Given the description of an element on the screen output the (x, y) to click on. 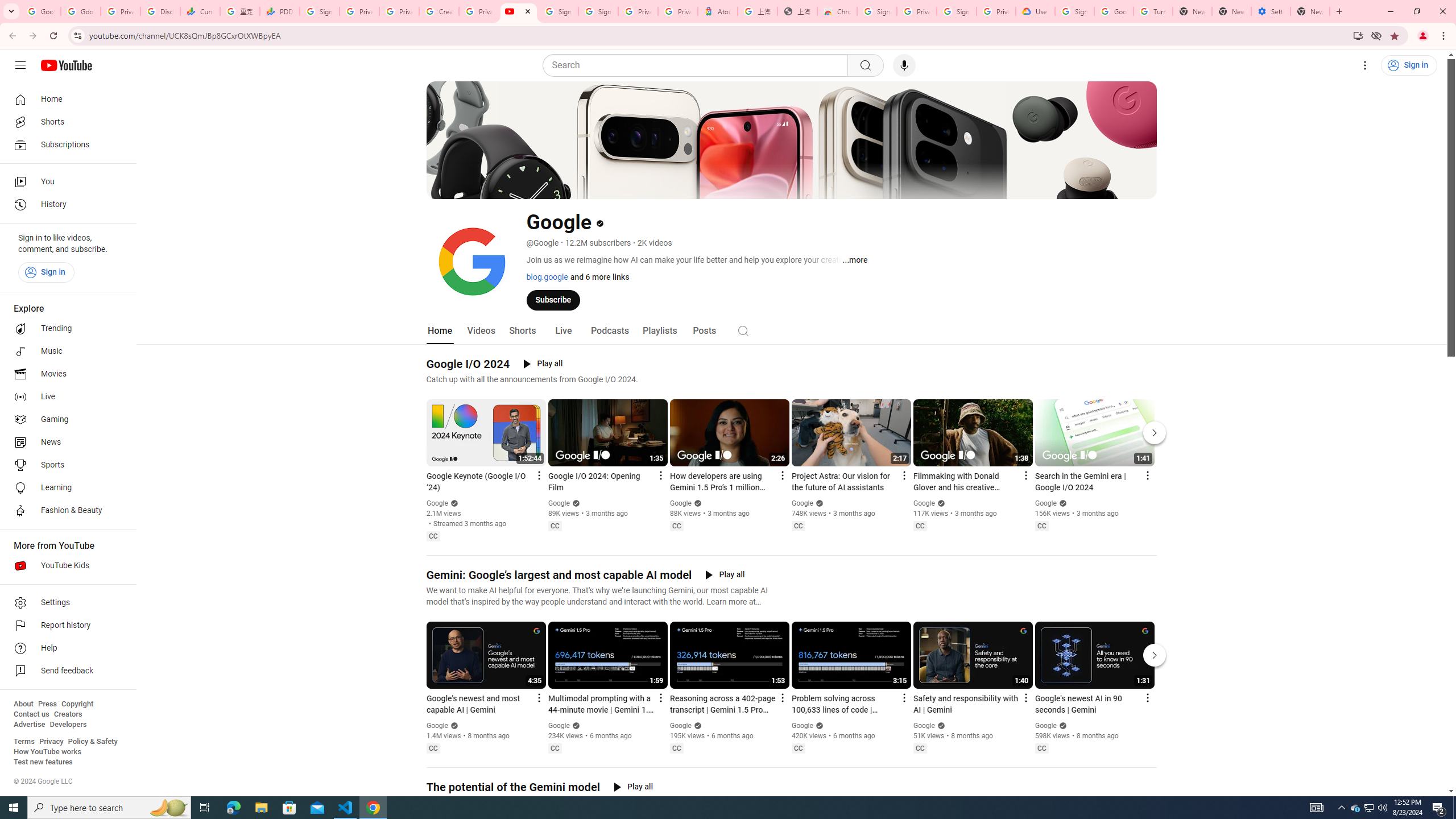
News (64, 441)
Google Workspace Admin Community (40, 11)
Play all (633, 787)
Live (64, 396)
Report history (64, 625)
Gaming (64, 419)
blog.google (546, 276)
Videos (481, 330)
